Given the description of an element on the screen output the (x, y) to click on. 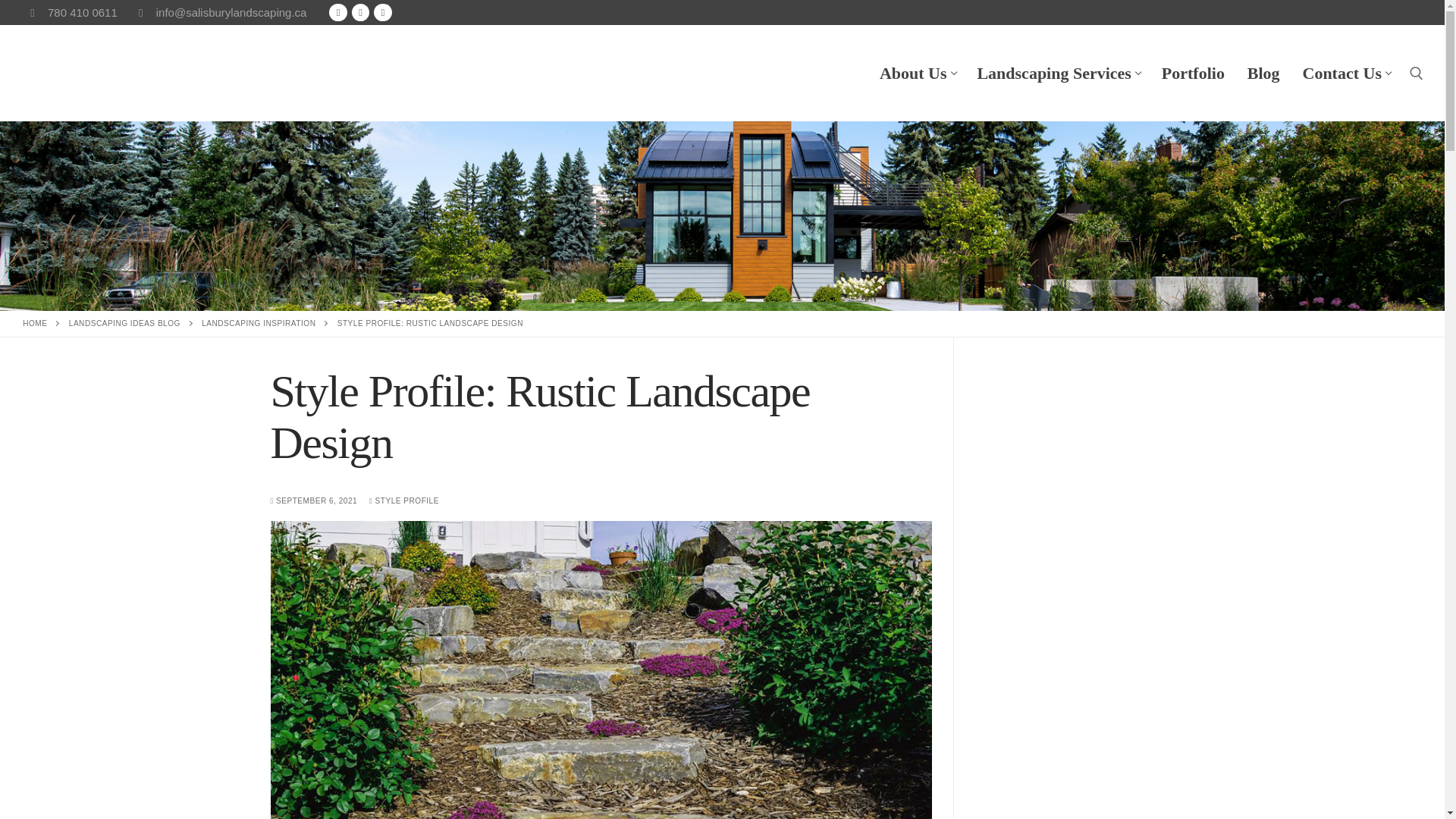
Portfolio (1192, 73)
Youtube (382, 12)
Blog (1263, 73)
HOME (34, 323)
Go to the Landscaping Inspiration category archives. (258, 323)
Instagram (1345, 73)
780 410 0611 (360, 12)
LANDSCAPING INSPIRATION (69, 12)
Facebook (258, 323)
